Given the description of an element on the screen output the (x, y) to click on. 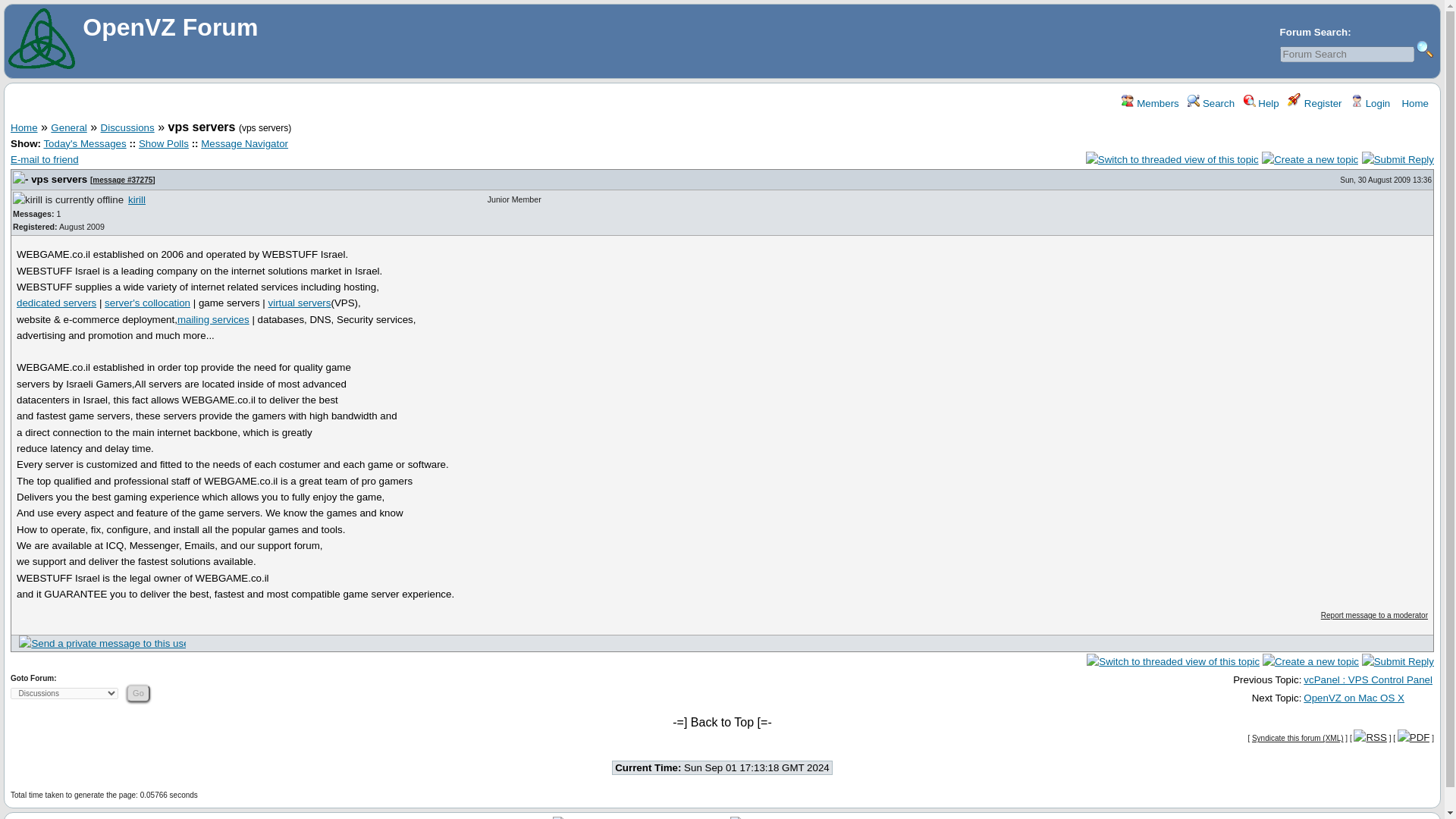
server's collocation (147, 302)
Help (1261, 102)
Opens in a new window (299, 302)
Today's Messages (84, 143)
Go (137, 693)
Switch to threaded view of this topic (1172, 159)
Home (1413, 102)
Home (23, 126)
Report message to a moderator (1374, 614)
General (67, 126)
